Given the description of an element on the screen output the (x, y) to click on. 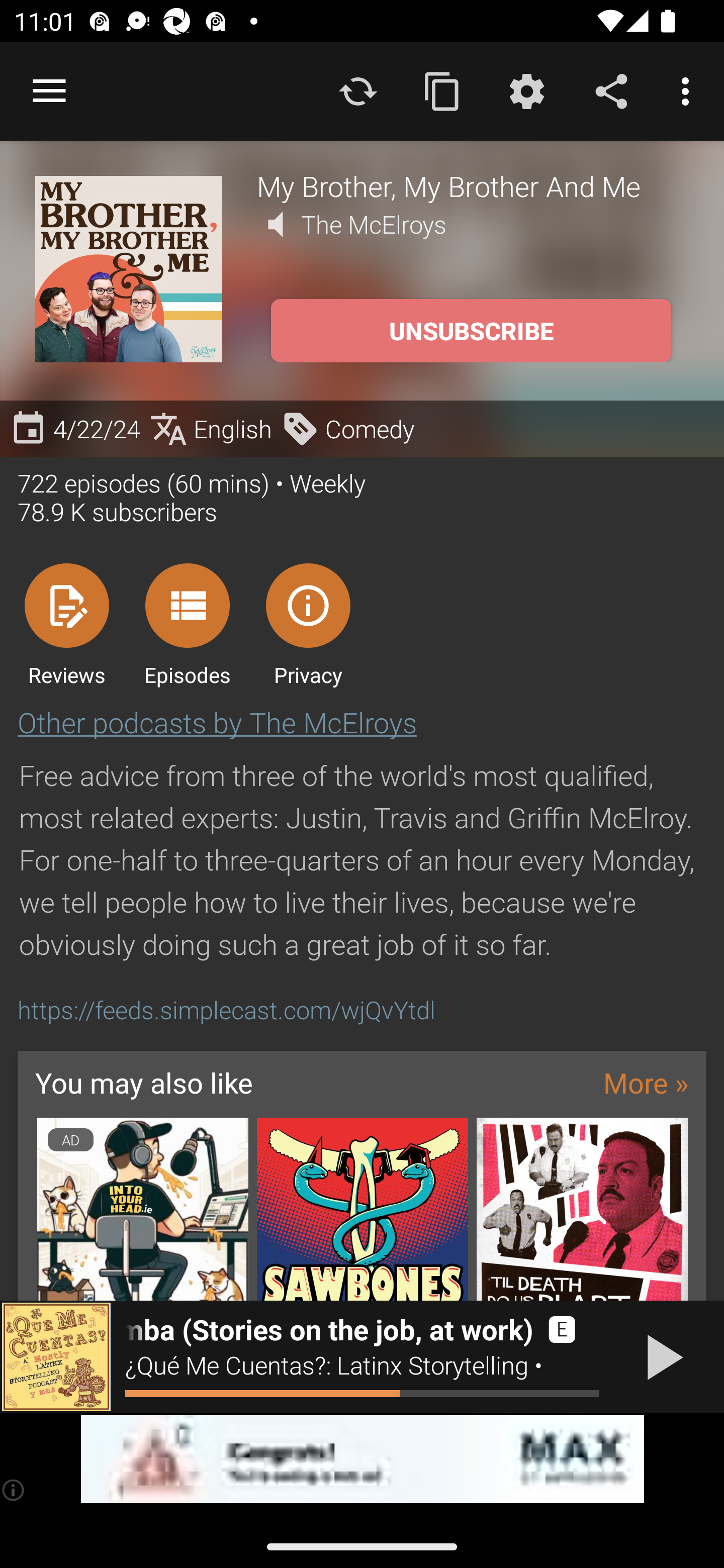
Open navigation sidebar (49, 91)
Refresh podcast description (357, 90)
Copy feed url to clipboard (442, 90)
Custom Settings (526, 90)
Share the podcast (611, 90)
More options (688, 90)
My Brother, My Brother And Me (472, 185)
The McElroys (373, 223)
UNSUBSCRIBE (470, 330)
Comedy (347, 428)
Reviews (66, 623)
Episodes (187, 623)
Privacy (307, 623)
Other podcasts by The McElroys (217, 721)
More » (645, 1082)
AD (142, 1208)
Play / Pause (660, 1356)
app-monetization (362, 1459)
(i) (14, 1489)
